Given the description of an element on the screen output the (x, y) to click on. 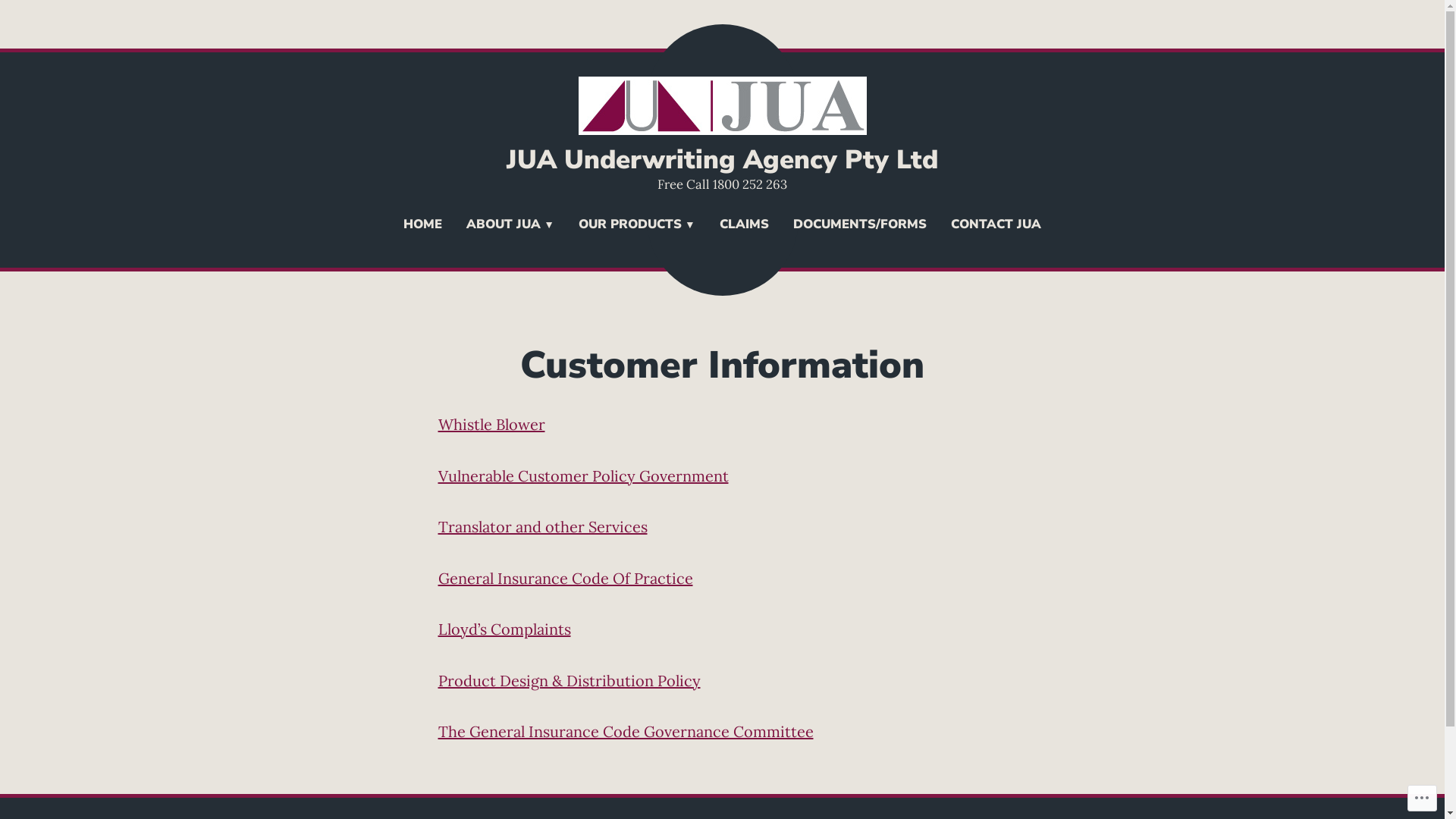
JUA Underwriting Agency Pty Ltd Element type: text (722, 159)
ABOUT JUA Element type: text (510, 225)
Whistle Blower Element type: text (491, 423)
Vulnerable Customer Policy Government Element type: text (583, 474)
OUR PRODUCTS Element type: text (636, 225)
CONTACT JUA Element type: text (995, 225)
Product Design & Distribution Policy Element type: text (569, 680)
Translator and other Services Element type: text (542, 526)
General Insurance Code Of Practice Element type: text (565, 577)
DOCUMENTS/FORMS Element type: text (859, 225)
HOME Element type: text (422, 225)
CLAIMS Element type: text (744, 225)
The General Insurance Code Governance Committee Element type: text (625, 730)
